Given the description of an element on the screen output the (x, y) to click on. 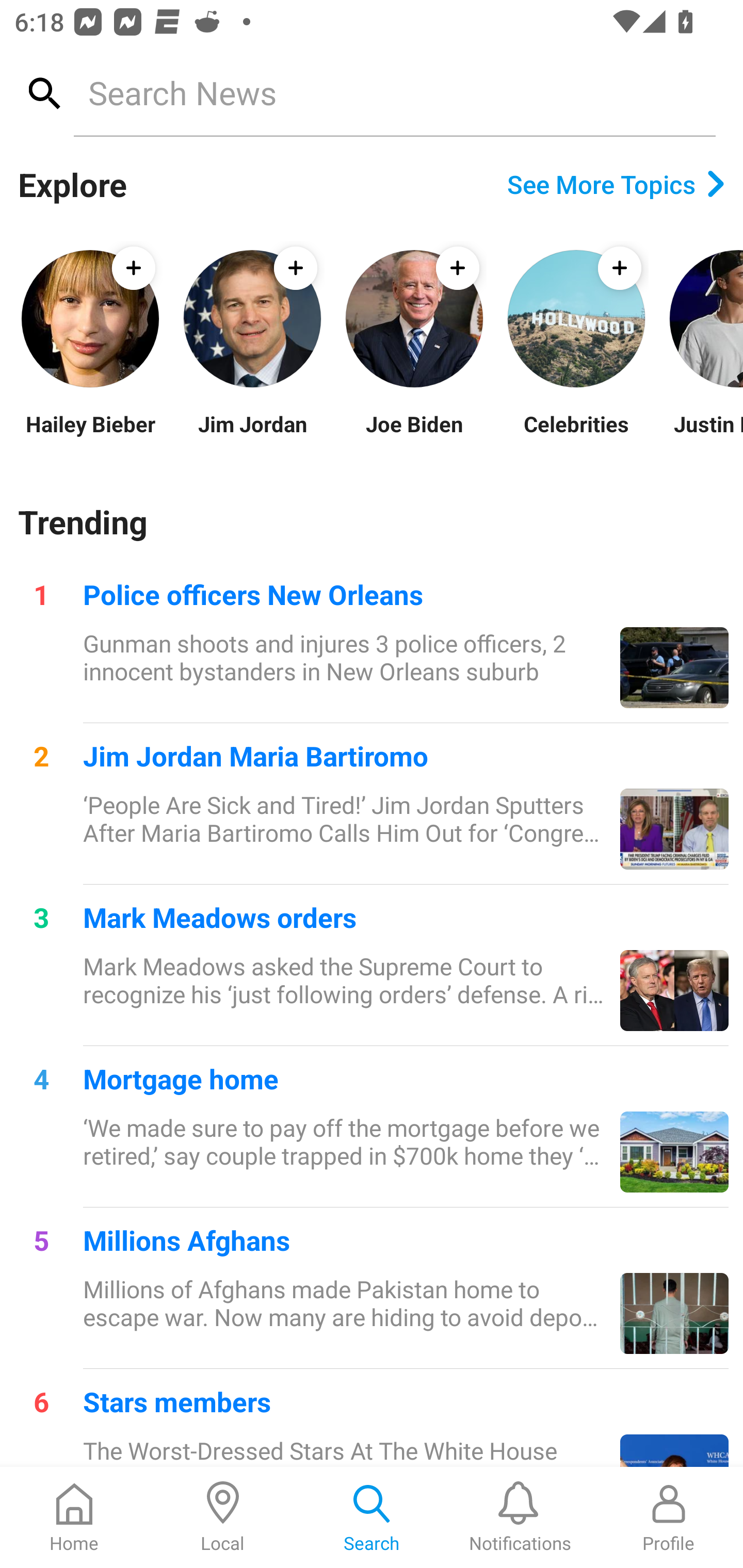
Search News (394, 92)
See More Topics (616, 183)
Hailey Bieber (89, 436)
Jim Jordan (251, 436)
Joe Biden (413, 436)
Celebrities (575, 436)
Home (74, 1517)
Local (222, 1517)
Notifications (519, 1517)
Profile (668, 1517)
